Given the description of an element on the screen output the (x, y) to click on. 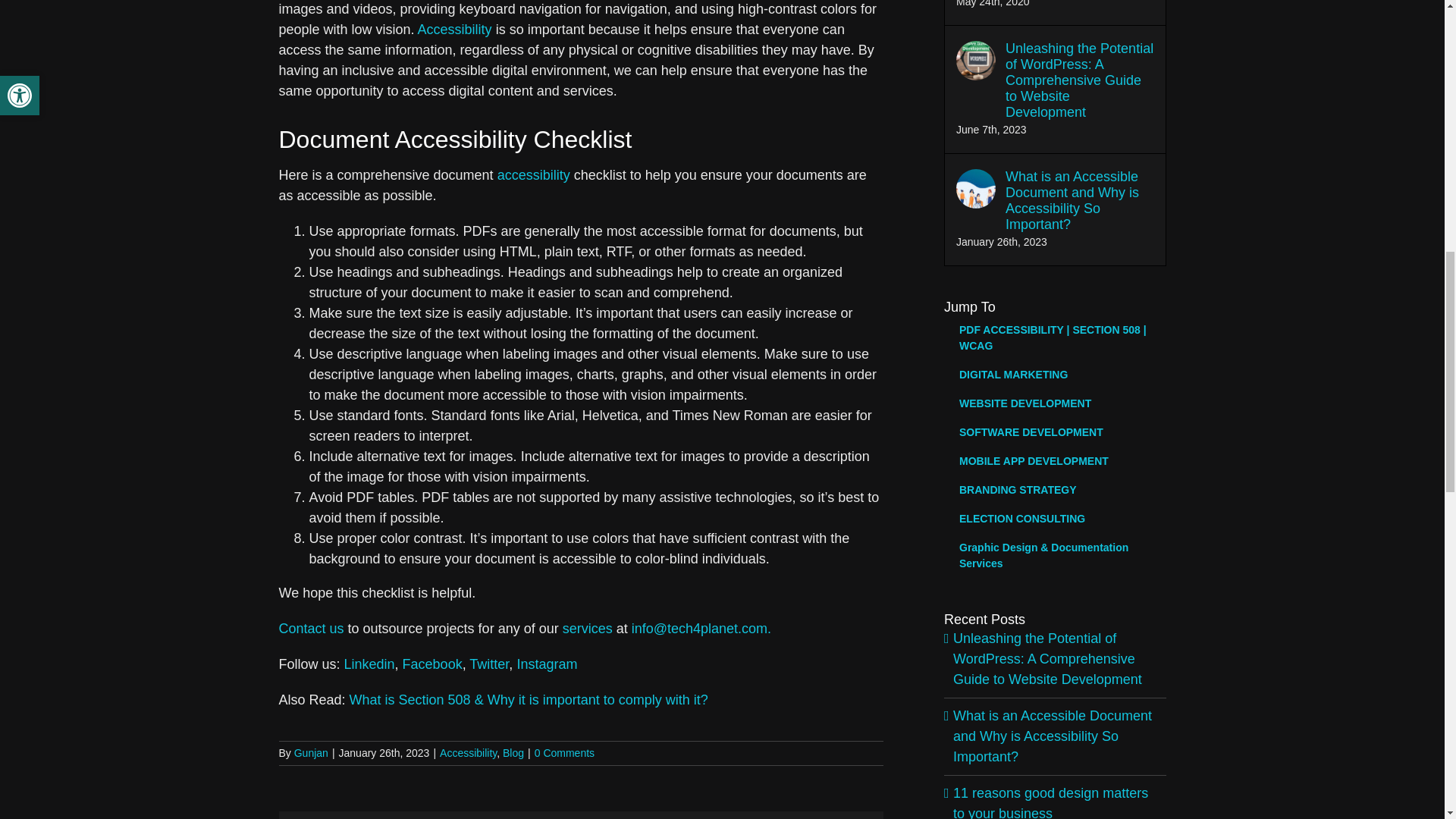
Posts by Gunjan (311, 752)
